Given the description of an element on the screen output the (x, y) to click on. 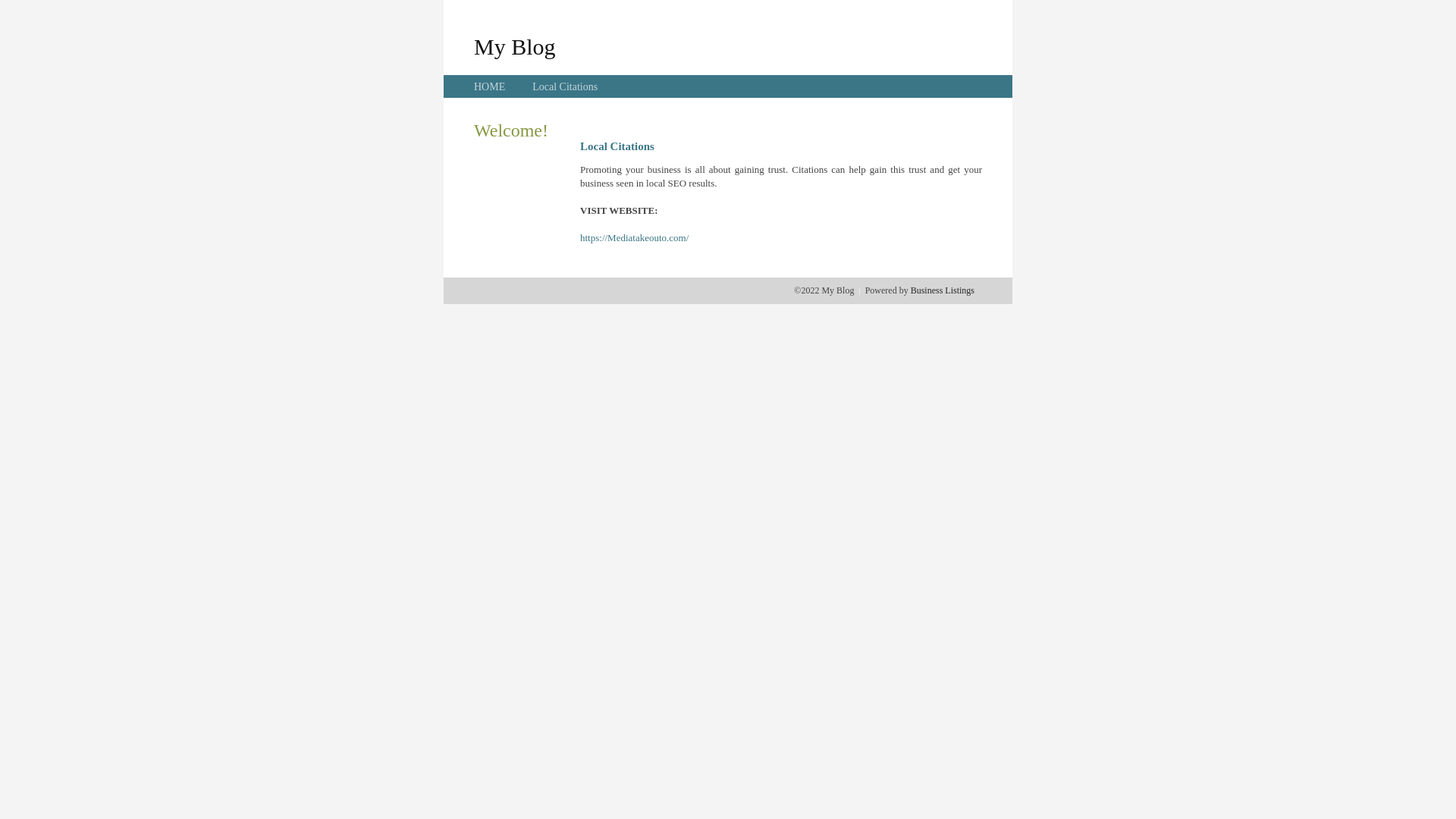
https://Mediatakeouto.com/ Element type: text (634, 237)
Business Listings Element type: text (942, 290)
My Blog Element type: text (514, 46)
Local Citations Element type: text (564, 86)
HOME Element type: text (489, 86)
